Given the description of an element on the screen output the (x, y) to click on. 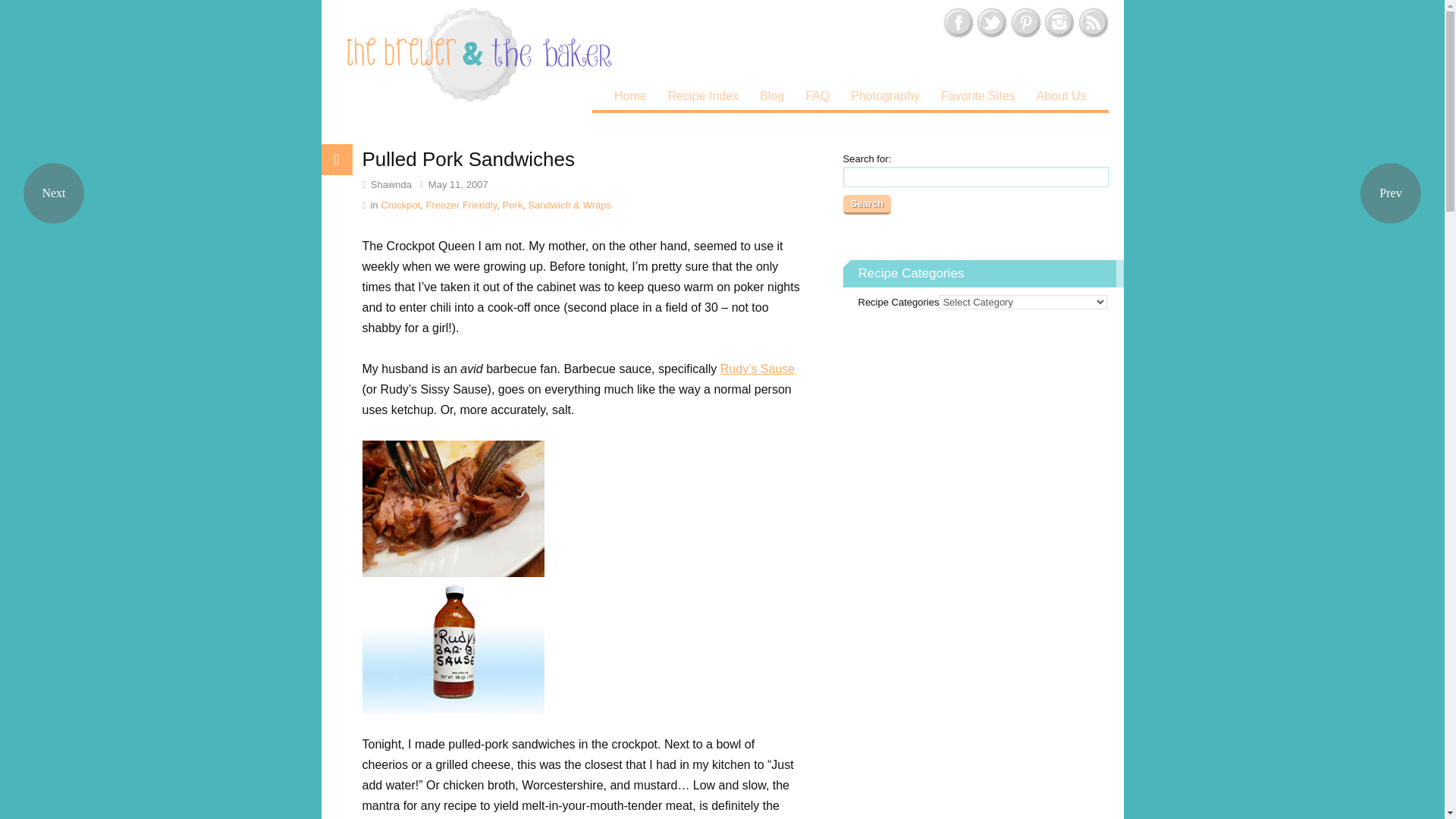
FAQ (817, 95)
2007-05-11 (453, 184)
Recipe Index (703, 95)
Photography (885, 95)
Favorite Sites (978, 95)
Home (631, 95)
About Us (1061, 95)
visit the home page (478, 54)
Pork (512, 204)
Freezer Friendly (461, 204)
